Given the description of an element on the screen output the (x, y) to click on. 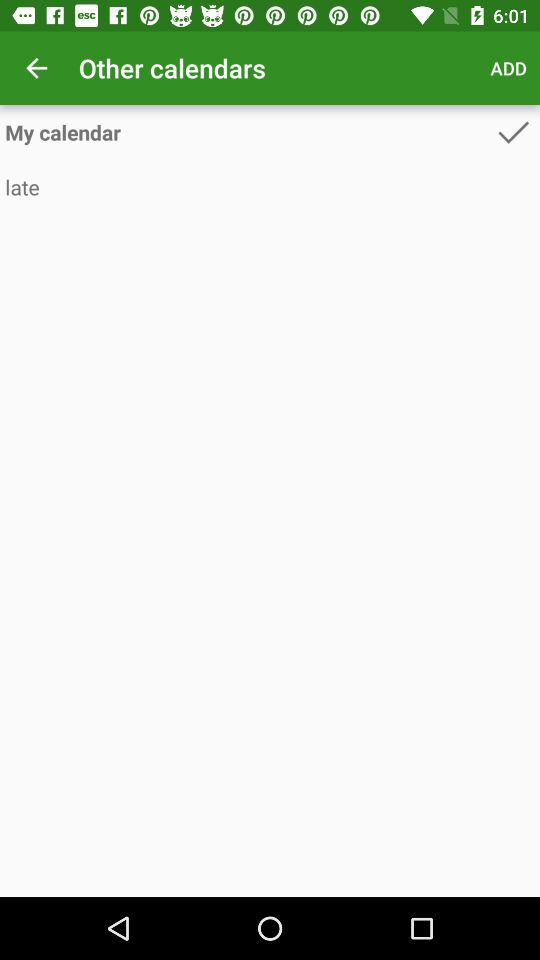
press the item below the my calendar item (269, 186)
